Given the description of an element on the screen output the (x, y) to click on. 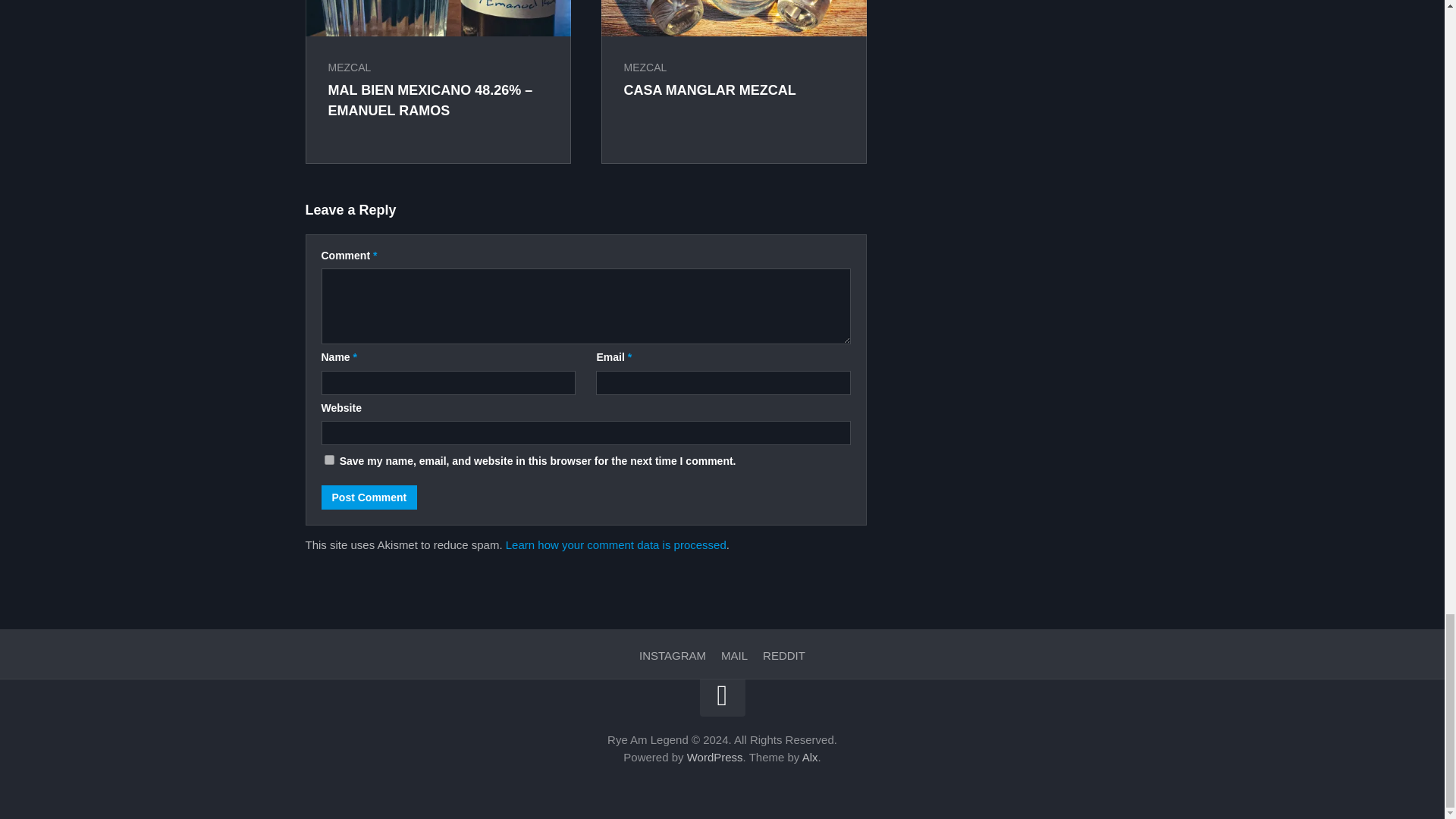
WordPress (714, 757)
Learn how your comment data is processed (615, 544)
MAIL (734, 655)
MEZCAL (349, 67)
MEZCAL (644, 67)
INSTAGRAM (672, 655)
Post Comment (369, 497)
CASA MANGLAR MEZCAL (708, 89)
Post Comment (369, 497)
Alx (810, 757)
yes (329, 460)
REDDIT (783, 655)
